Given the description of an element on the screen output the (x, y) to click on. 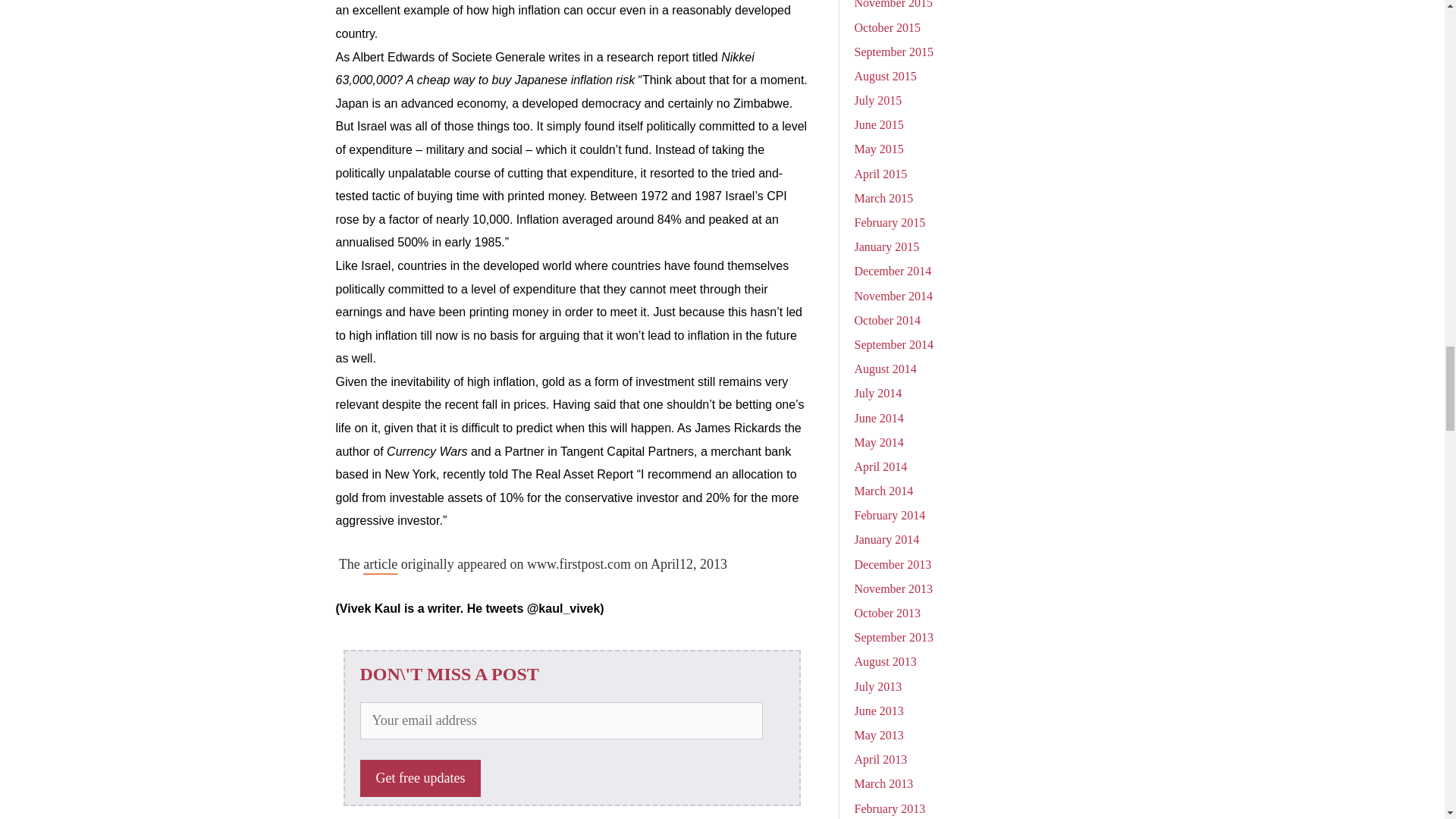
Get free updates (419, 778)
article (379, 565)
